Given the description of an element on the screen output the (x, y) to click on. 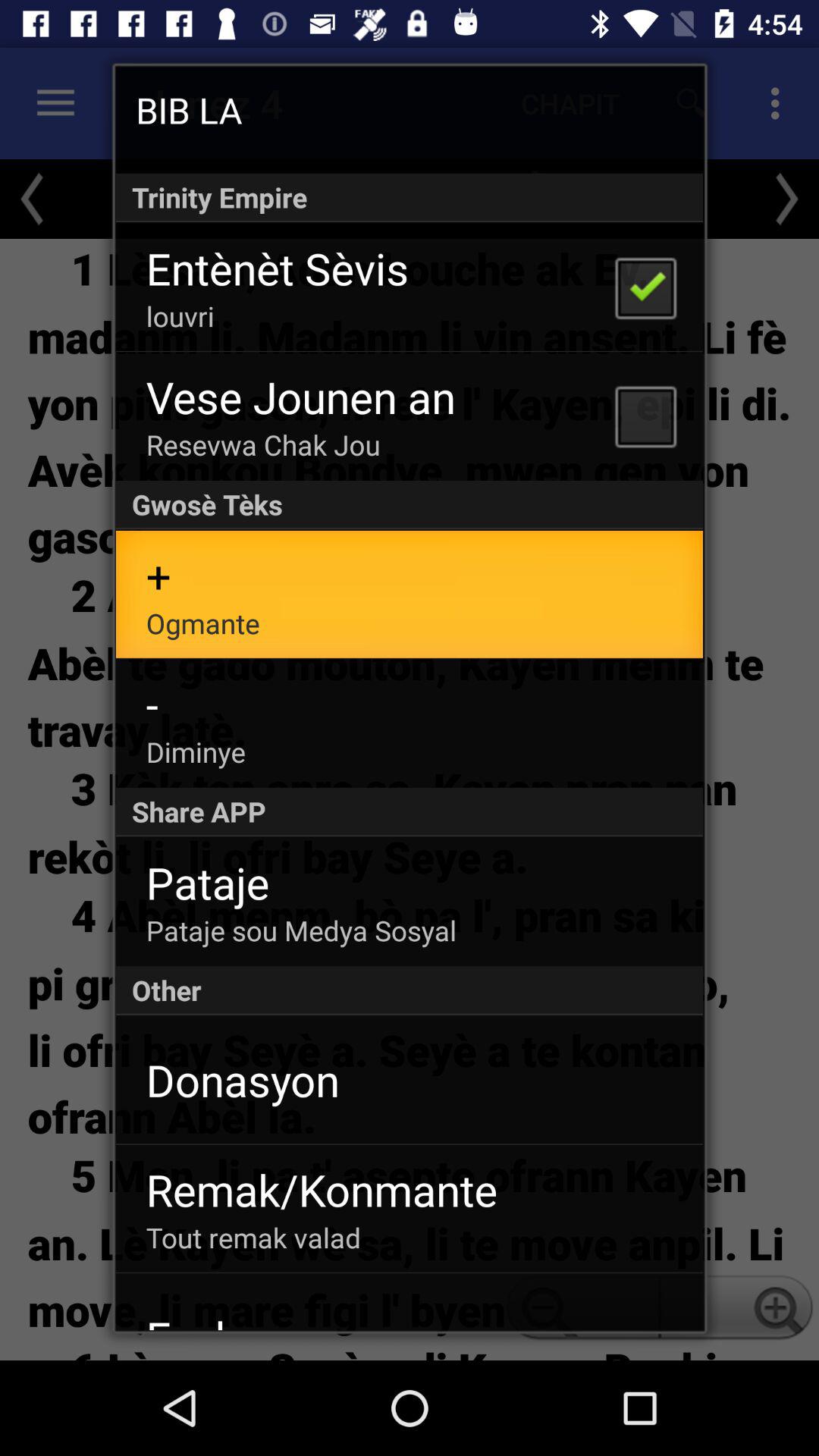
turn off icon above pataje item (409, 811)
